Given the description of an element on the screen output the (x, y) to click on. 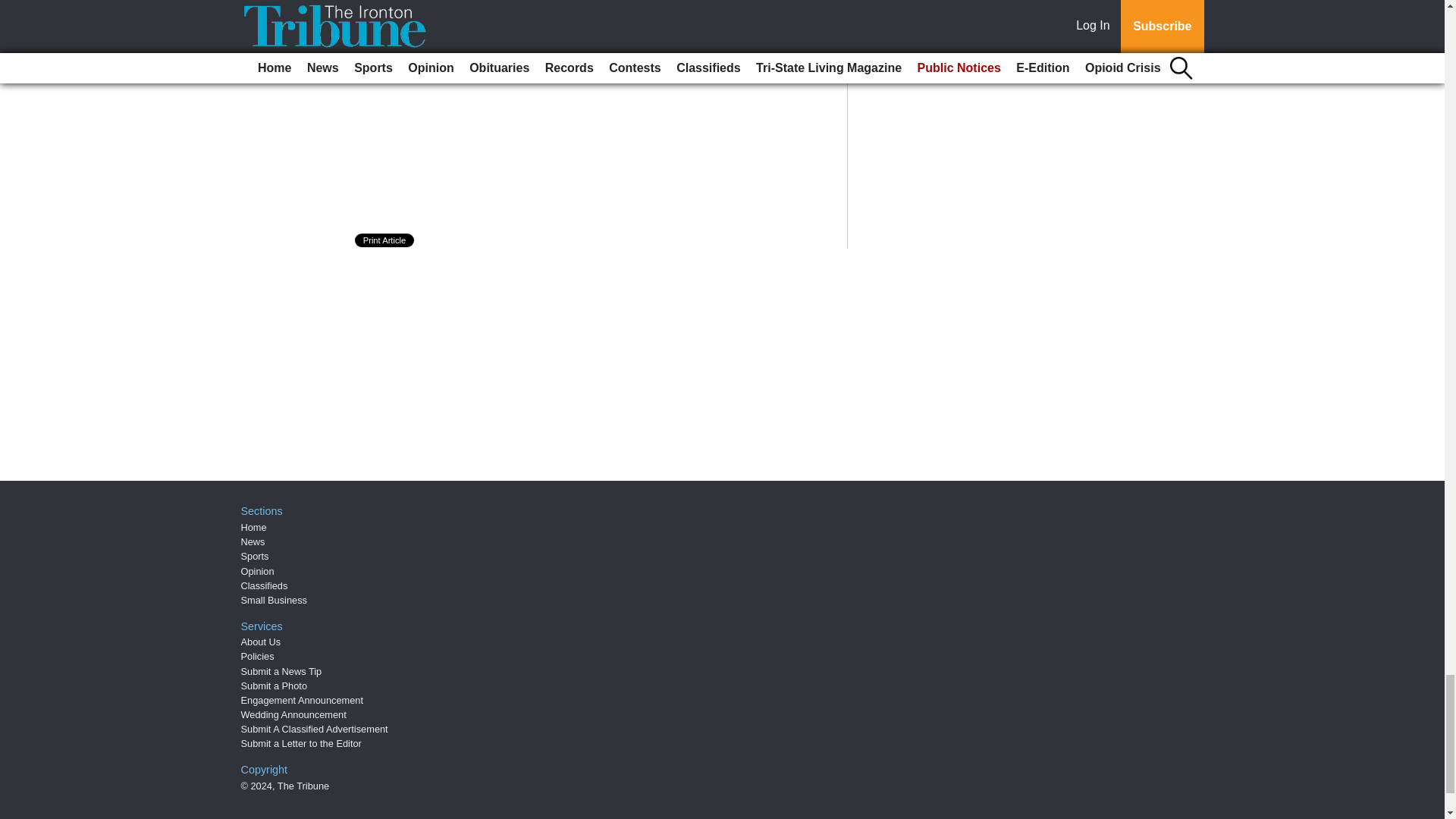
About Us (261, 641)
Small Business (274, 600)
Opinion (258, 571)
Policies (258, 655)
Sports (255, 555)
Classifieds (264, 585)
News (252, 541)
Print Article (384, 240)
Home (253, 527)
